Given the description of an element on the screen output the (x, y) to click on. 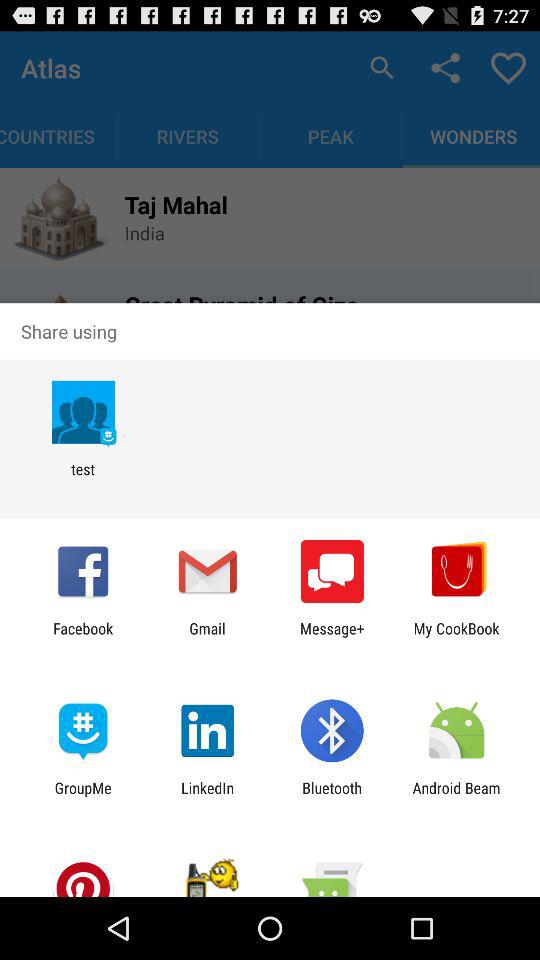
choose icon next to the bluetooth icon (456, 796)
